Given the description of an element on the screen output the (x, y) to click on. 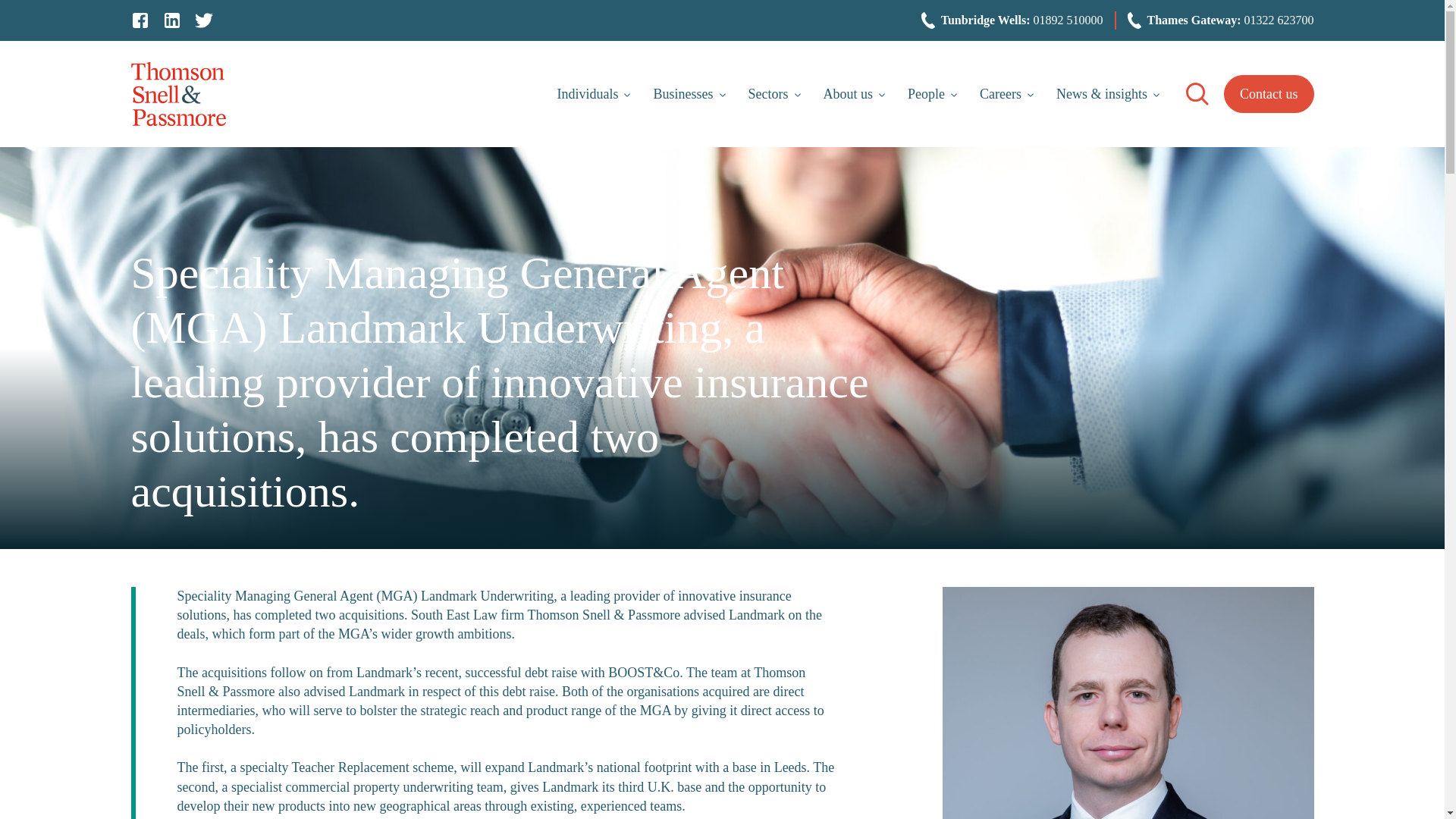
Call Tunbridge Wells on 01892 510000 (1068, 20)
Facebook (139, 23)
01892 510000 (1068, 20)
Individuals (593, 93)
01322 623700 (1278, 20)
LinkedIn (170, 23)
Individuals (593, 93)
Call Thames Gateway on 01322 623700 (1278, 20)
Twitter (202, 23)
